Given the description of an element on the screen output the (x, y) to click on. 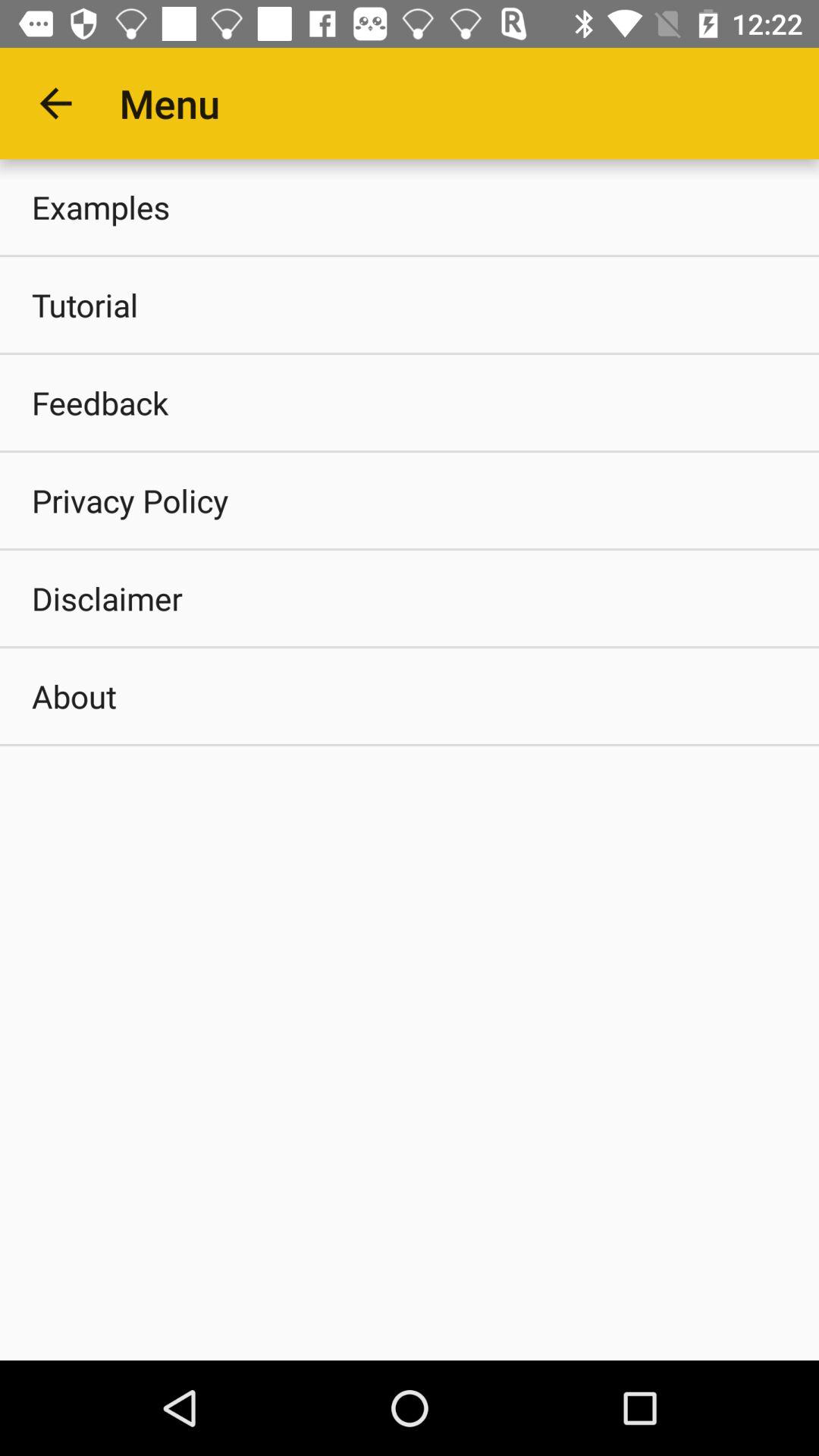
turn on the app next to the menu (55, 103)
